Given the description of an element on the screen output the (x, y) to click on. 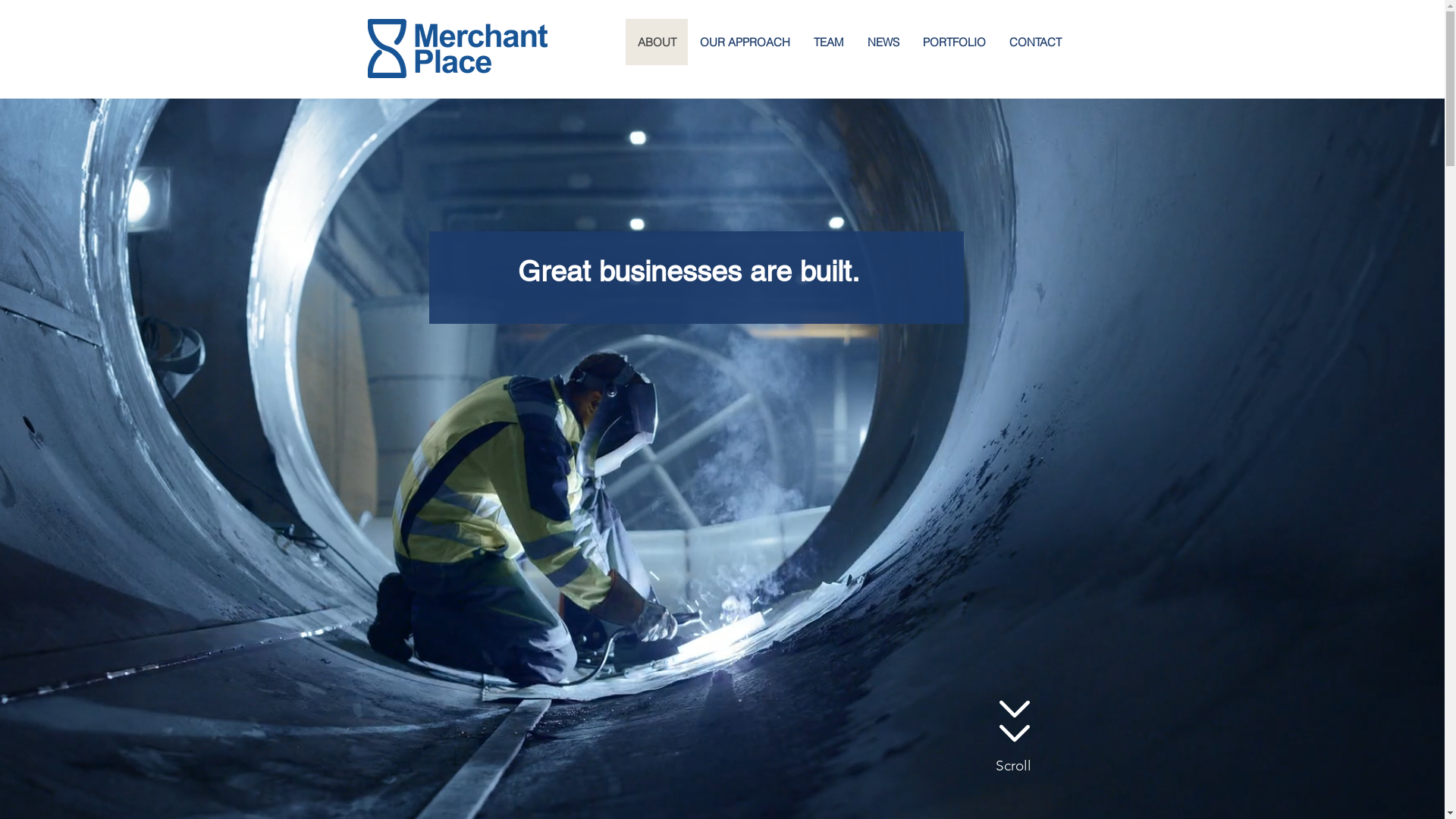
TEAM Element type: text (827, 41)
CONTACT Element type: text (1034, 41)
OUR APPROACH Element type: text (743, 41)
ABOUT Element type: text (655, 41)
Merchant Place White Transparant.png Element type: hover (456, 48)
NEWS Element type: text (882, 41)
PORTFOLIO Element type: text (953, 41)
